Given the description of an element on the screen output the (x, y) to click on. 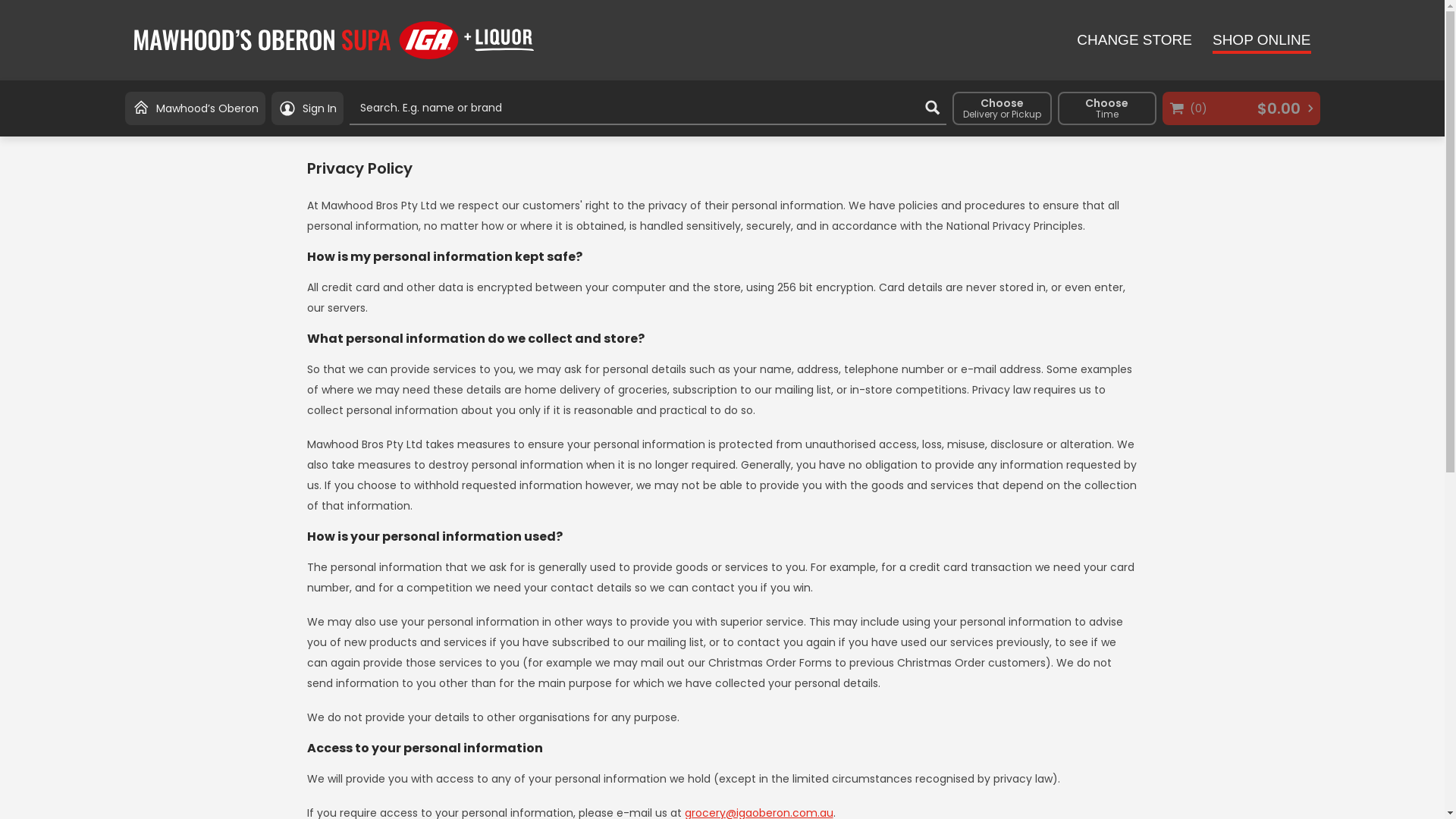
(0)
$0.00 Element type: text (1240, 108)
Choose
Delivery or Pickup Element type: text (1001, 108)
Choose
Time Element type: text (1106, 108)
Sign In Element type: text (307, 108)
CHANGE STORE Element type: text (1134, 40)
SHOP ONLINE Element type: text (1261, 42)
Search Element type: hover (932, 107)
